Given the description of an element on the screen output the (x, y) to click on. 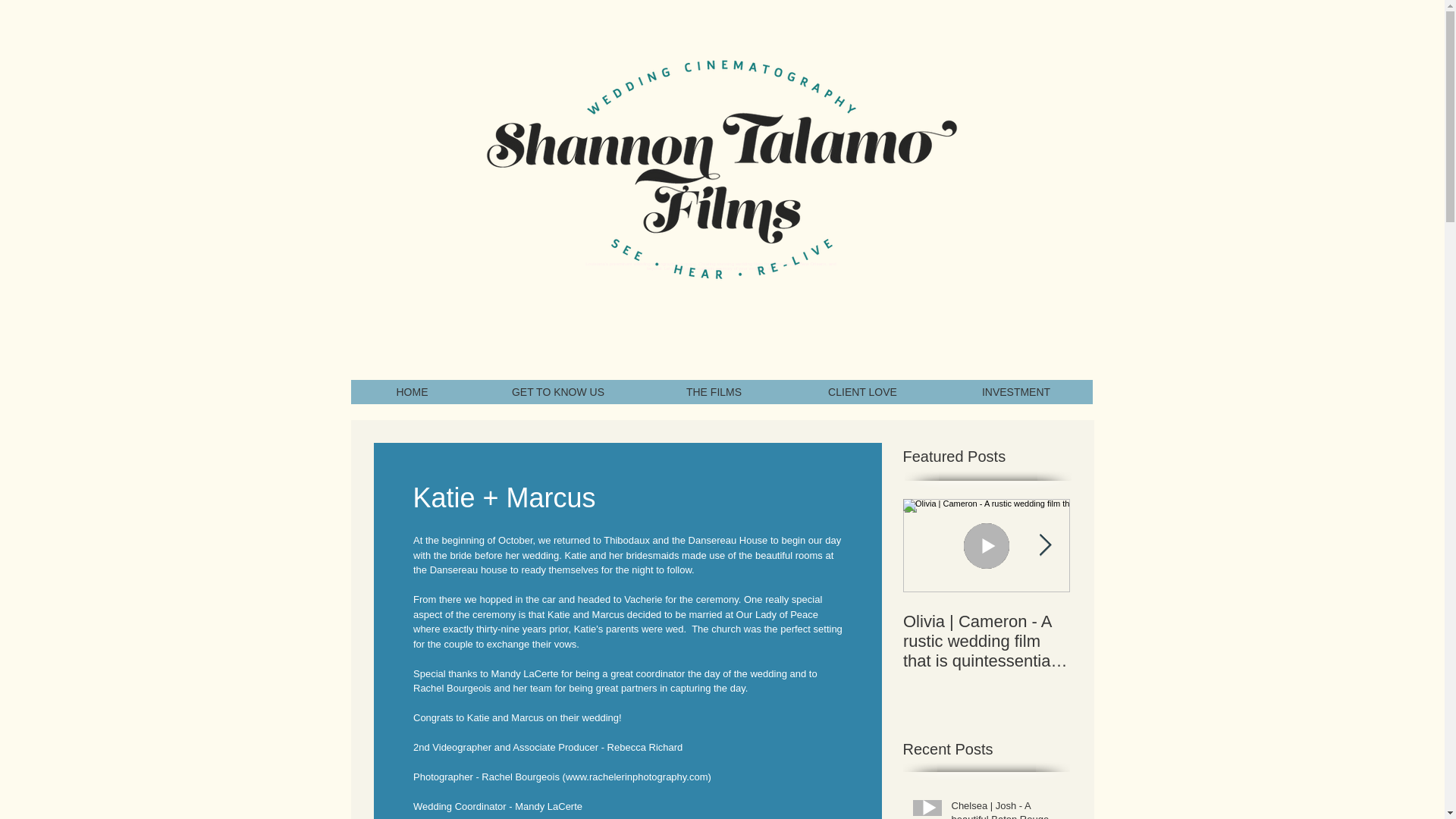
unnamed.png (721, 167)
INVESTMENT (1015, 392)
CLIENT LOVE (862, 392)
THE FILMS (713, 392)
GET TO KNOW US (557, 392)
HOME (411, 392)
